Given the description of an element on the screen output the (x, y) to click on. 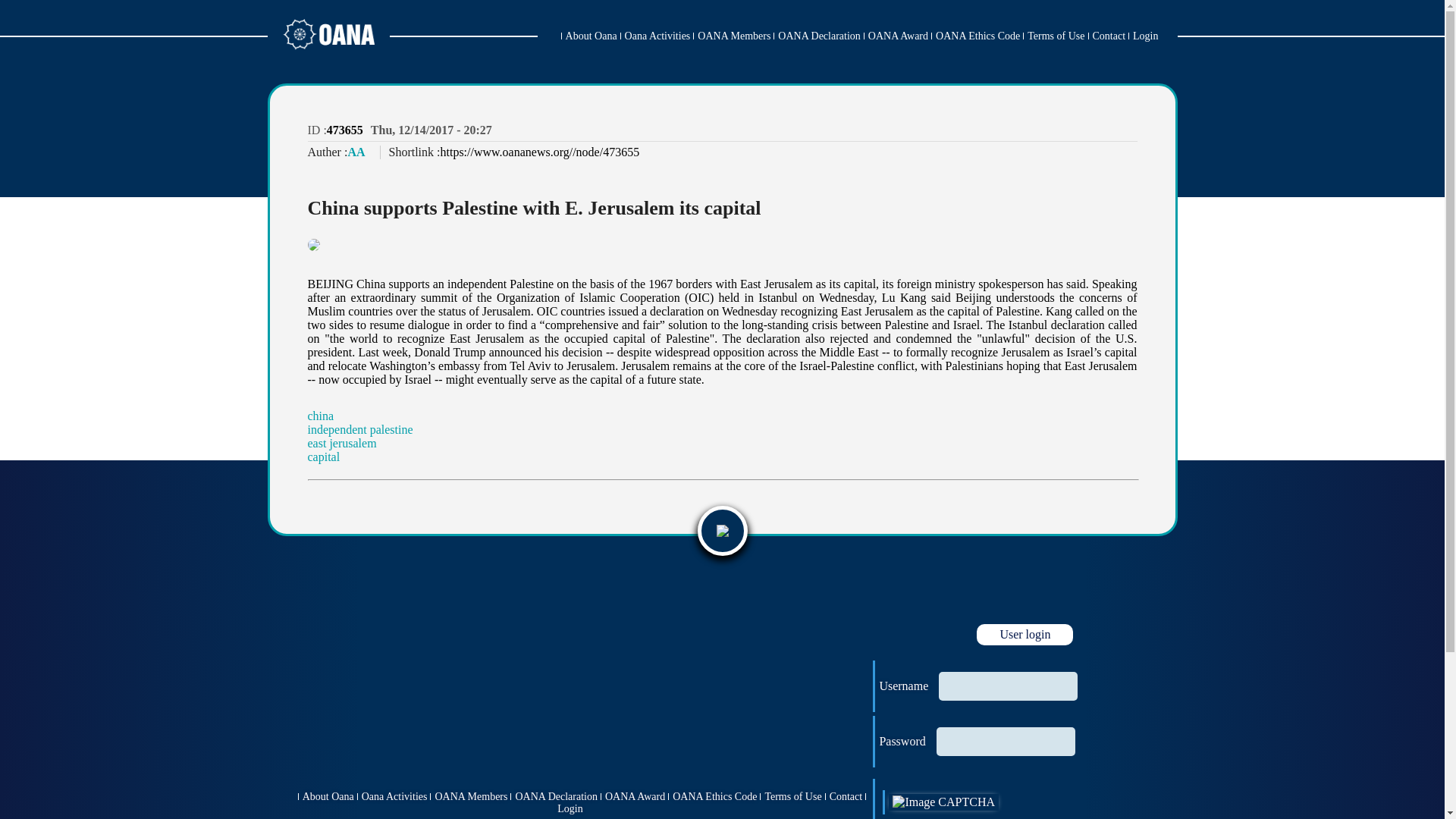
Oana Activities (657, 36)
Home (549, 36)
Image CAPTCHA (943, 801)
About Oana (591, 36)
